Given the description of an element on the screen output the (x, y) to click on. 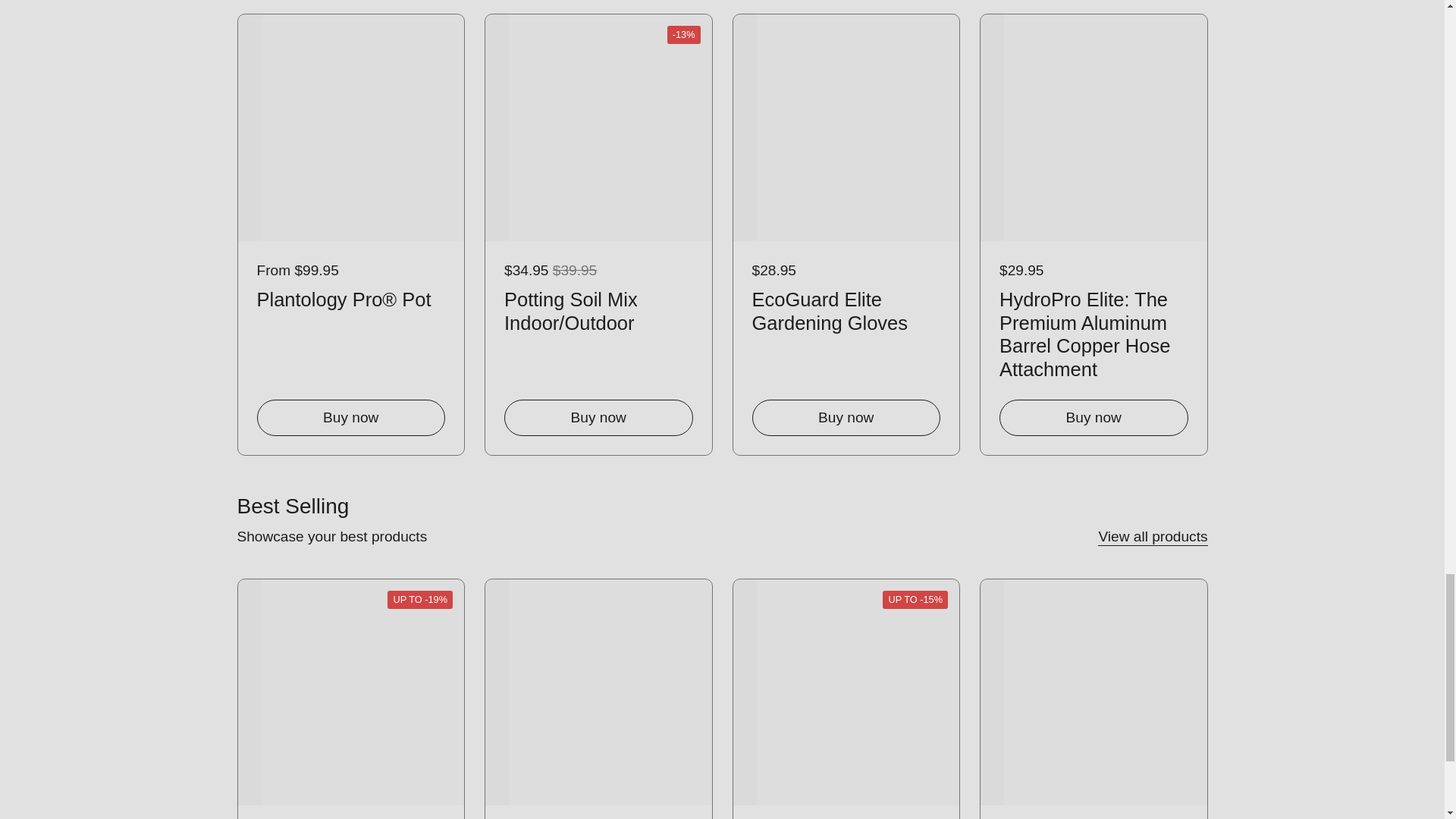
Stainless Steel Garden Hose with Premium Brass Nozzle (1340, 331)
EcoGuard Elite Gardening Gloves (846, 308)
